Given the description of an element on the screen output the (x, y) to click on. 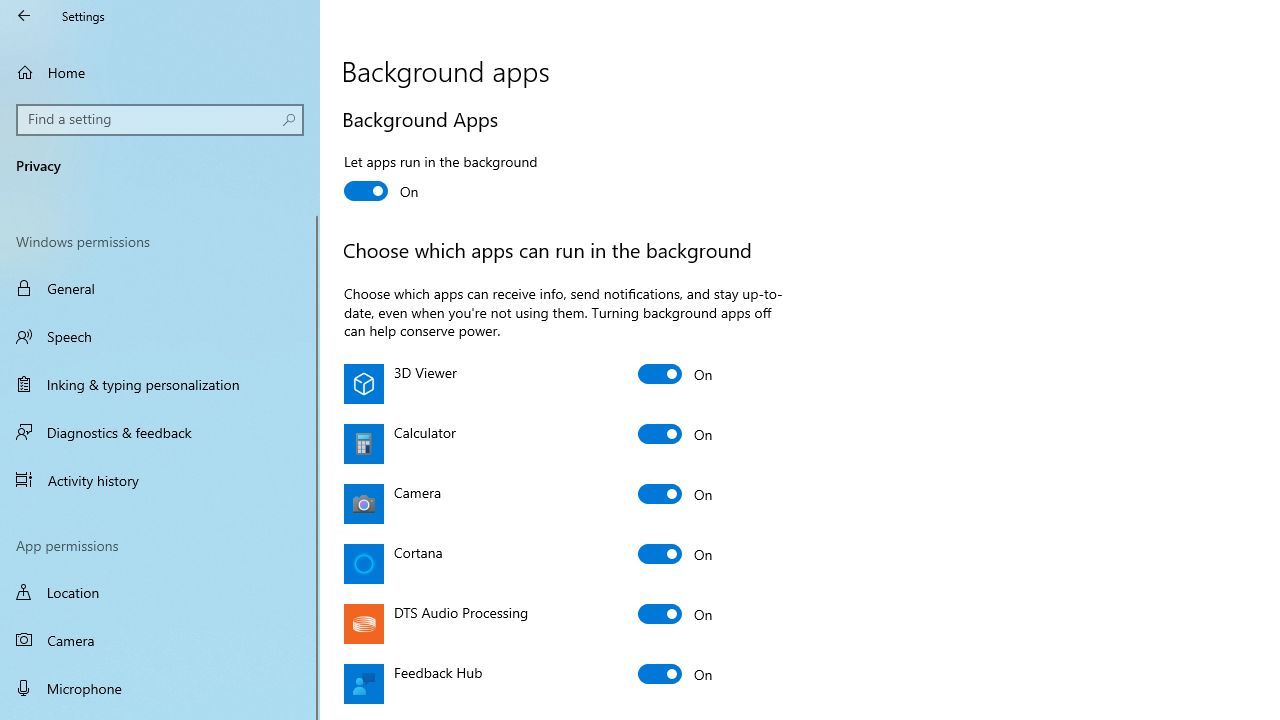
Calculator (675, 434)
Camera (675, 493)
Feedback Hub (675, 673)
General (160, 287)
Let apps run in the background (440, 179)
Diagnostics & feedback (160, 431)
DTS Audio Processing (675, 614)
3D Viewer (675, 373)
Inking & typing personalization (160, 384)
Location (160, 592)
Search box, Find a setting (160, 119)
Camera (160, 639)
Cortana (675, 553)
Microphone (160, 687)
Speech (160, 335)
